Given the description of an element on the screen output the (x, y) to click on. 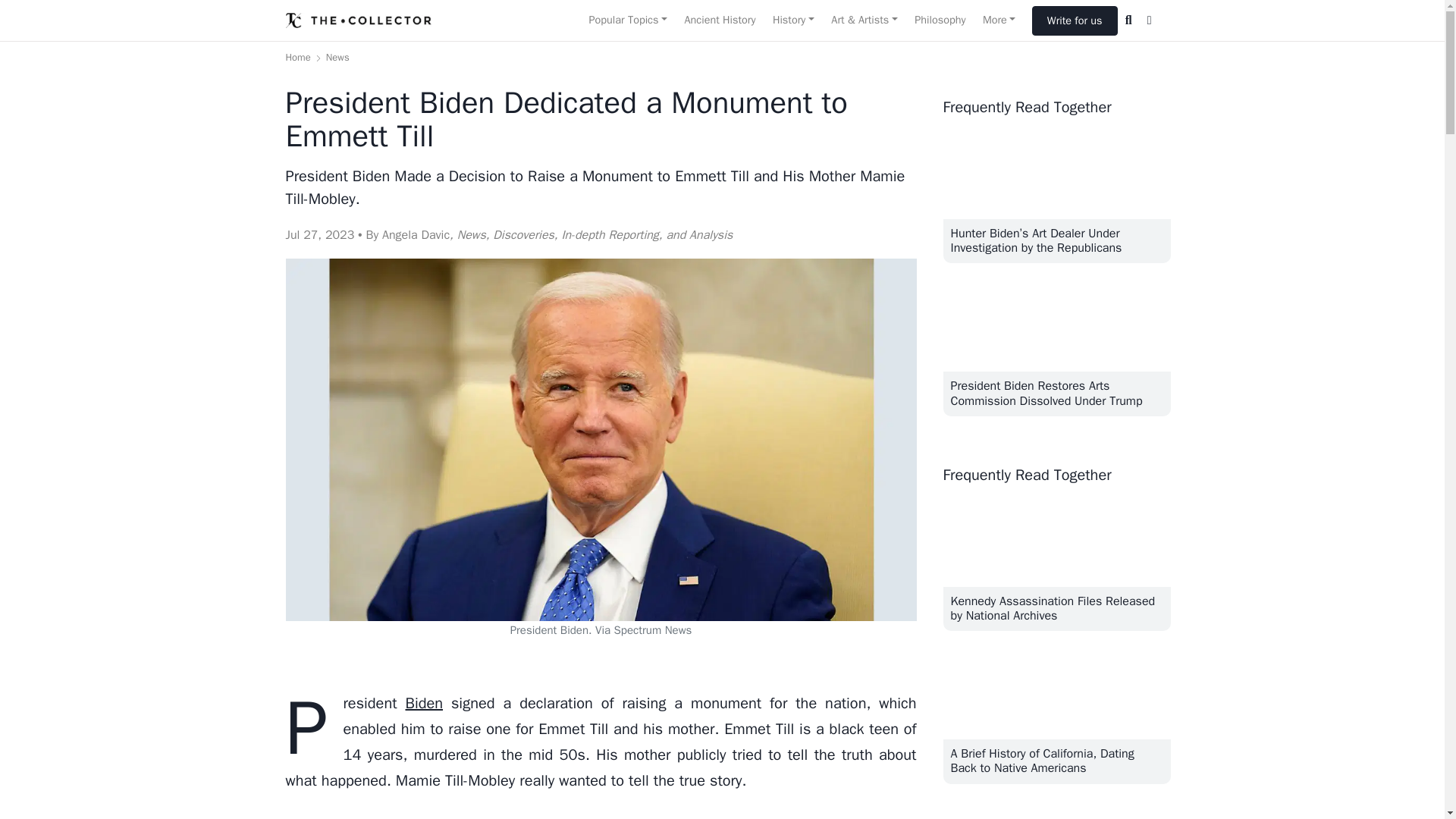
Write for us (1075, 20)
Popular Topics (627, 20)
More (999, 20)
History (793, 20)
Philosophy (939, 20)
Ancient History (718, 20)
